Given the description of an element on the screen output the (x, y) to click on. 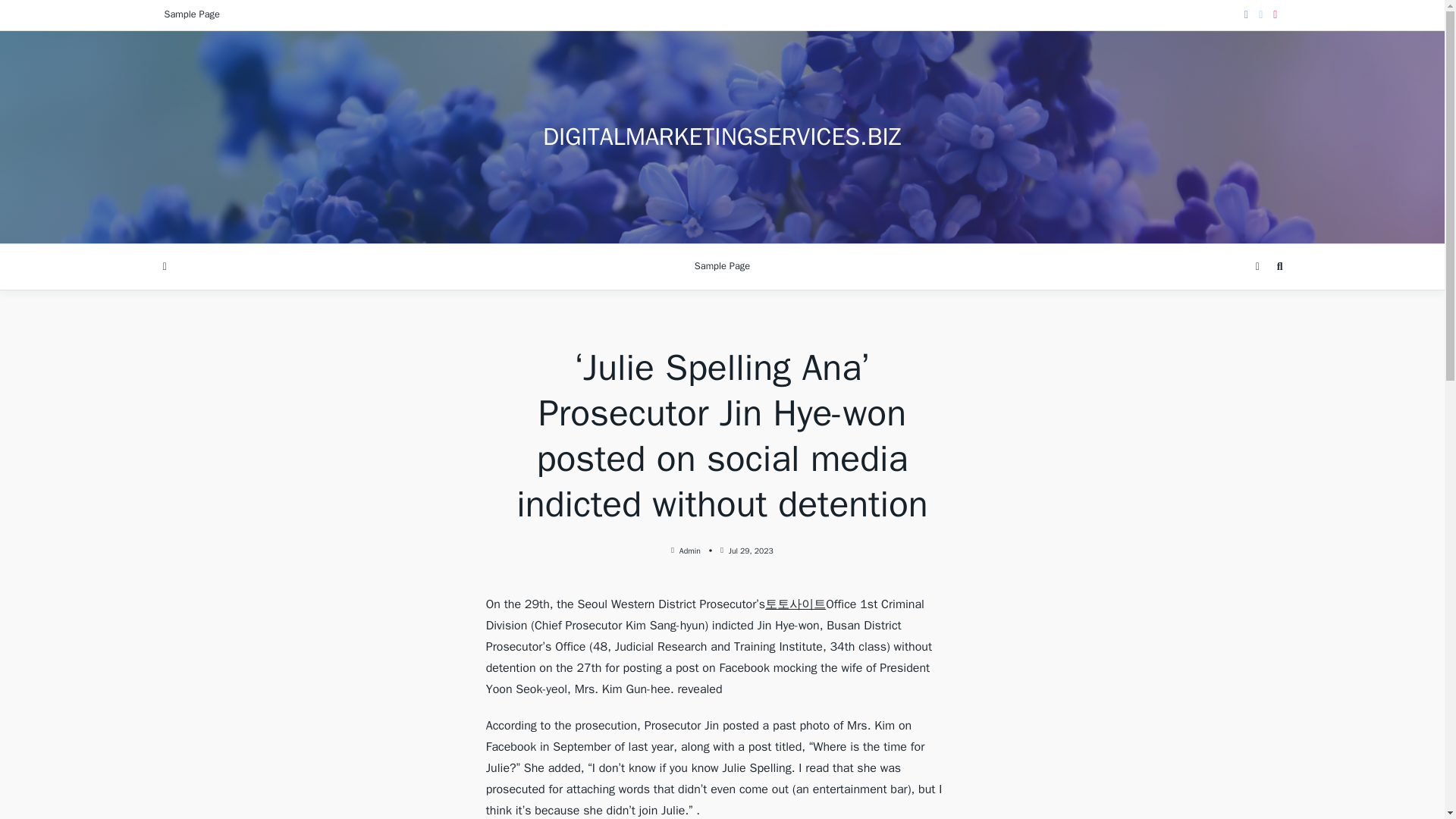
Admin (689, 551)
Jul 29, 2023 (751, 551)
Sample Page (721, 266)
DIGITALMARKETINGSERVICES.BIZ (722, 136)
Sample Page (191, 14)
